Given the description of an element on the screen output the (x, y) to click on. 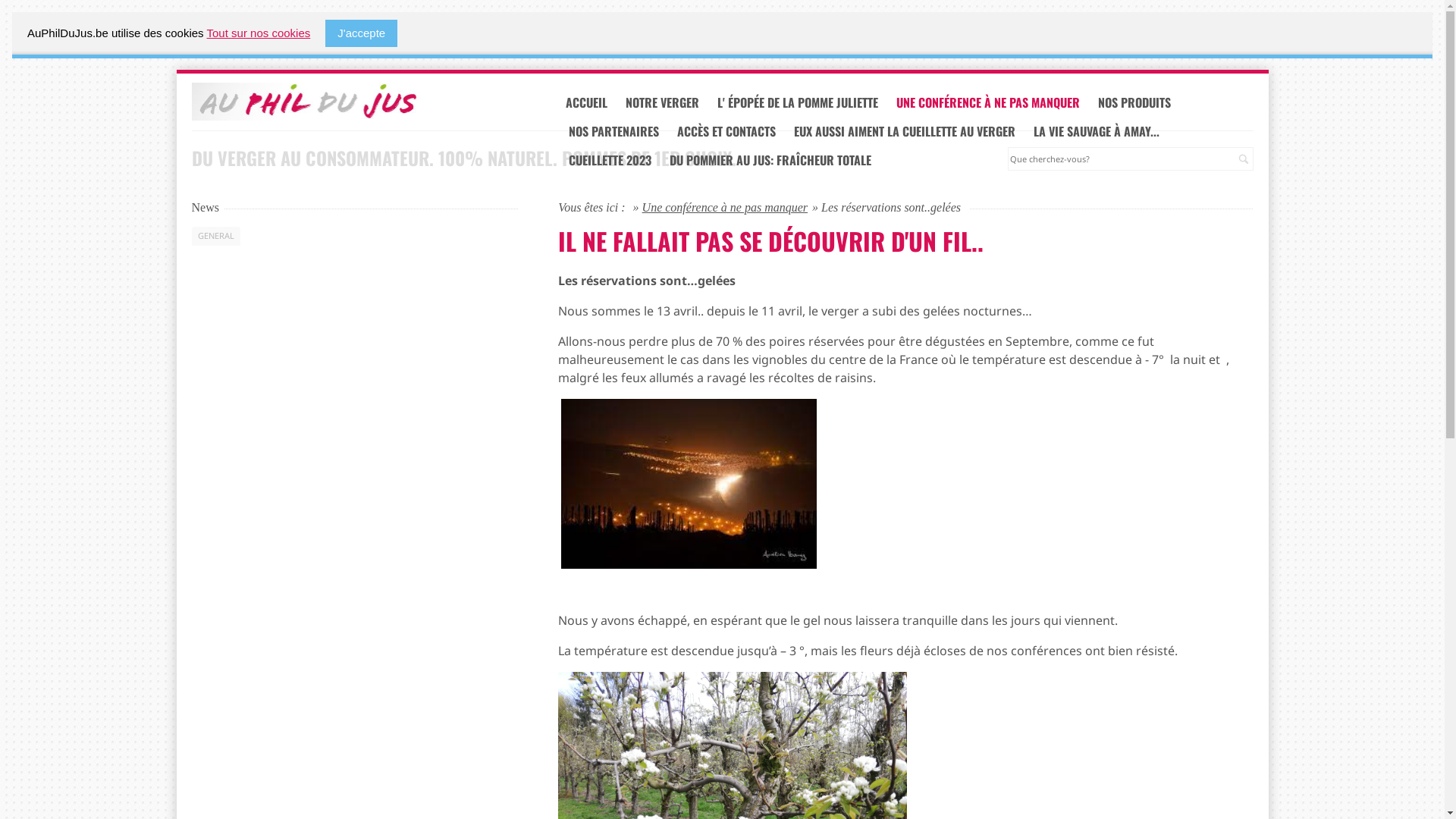
Tout sur nos cookies Element type: text (258, 32)
CUEILLETTE 2023 Element type: text (608, 160)
NOS PARTENAIRES Element type: text (612, 131)
ACCUEIL Element type: text (584, 102)
Au Phil du Jus Element type: hover (354, 101)
EUX AUSSI AIMENT LA CUEILLETTE AU VERGER Element type: text (902, 131)
NOS PRODUITS Element type: text (1132, 102)
